Given the description of an element on the screen output the (x, y) to click on. 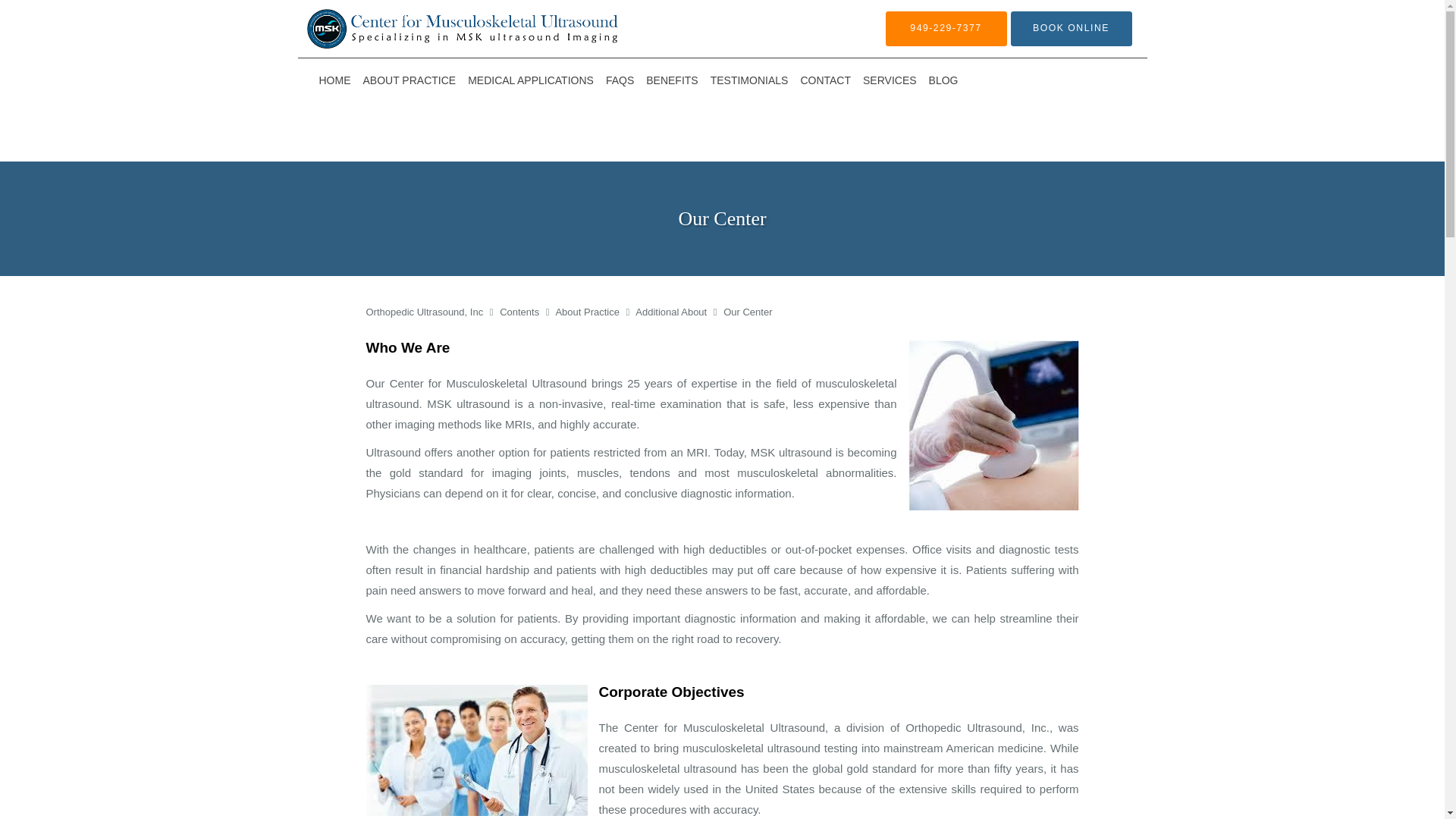
BLOG (943, 80)
Contents (520, 311)
BENEFITS (671, 80)
Orthopedic Ultrasound, Inc (424, 311)
949-229-7377 (946, 28)
HOME (334, 80)
ABOUT PRACTICE (408, 80)
MEDICAL APPLICATIONS (530, 80)
Our Center (747, 311)
FAQS (619, 80)
